Given the description of an element on the screen output the (x, y) to click on. 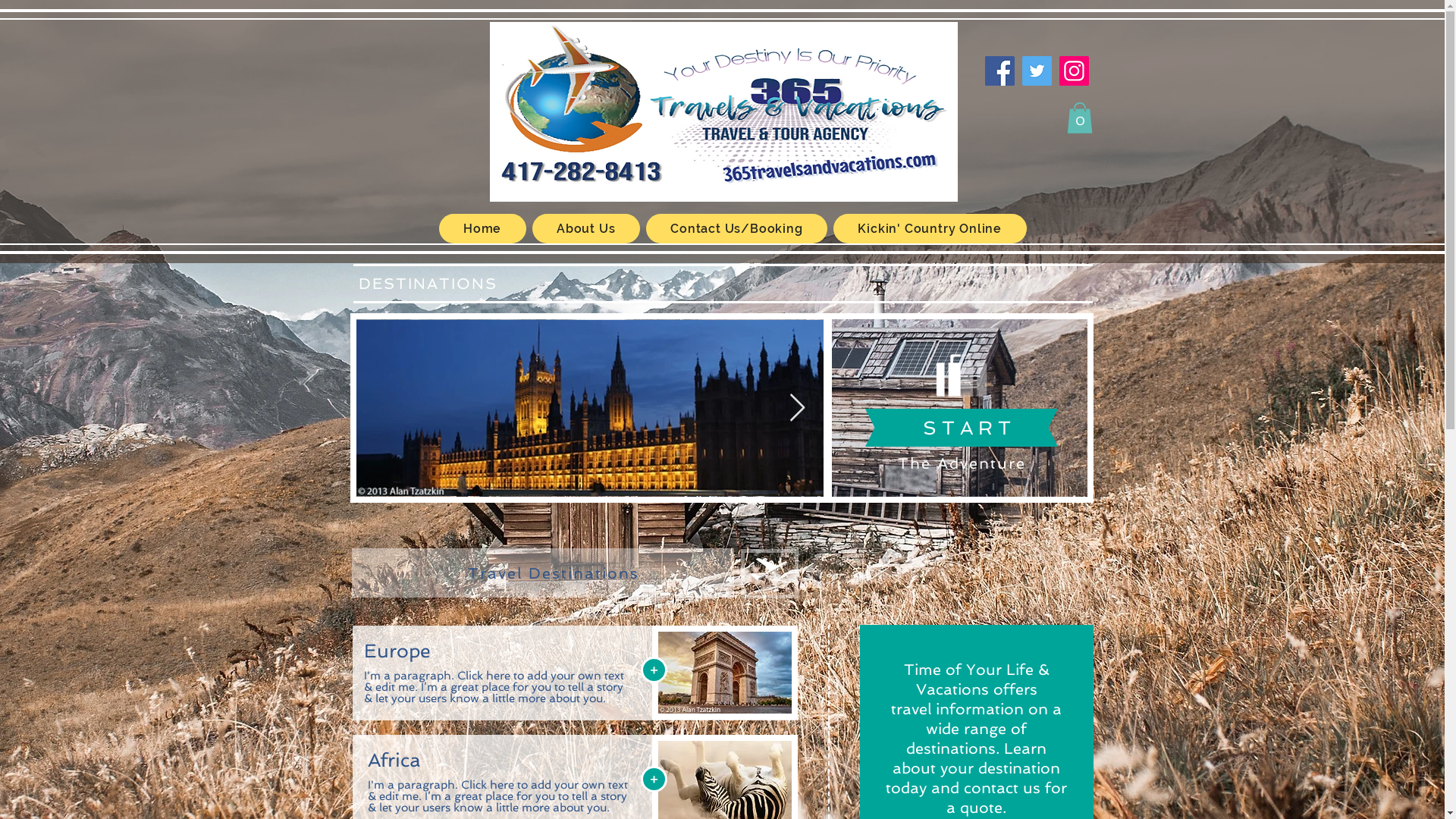
S T A R T Element type: text (966, 427)
0 Element type: text (1079, 117)
Home Element type: text (481, 228)
About Us Element type: text (586, 228)
Contact Us/Booking Element type: text (736, 228)
+ Element type: text (653, 669)
+ Element type: text (653, 778)
Kickin' Country Online Element type: text (929, 228)
